Given the description of an element on the screen output the (x, y) to click on. 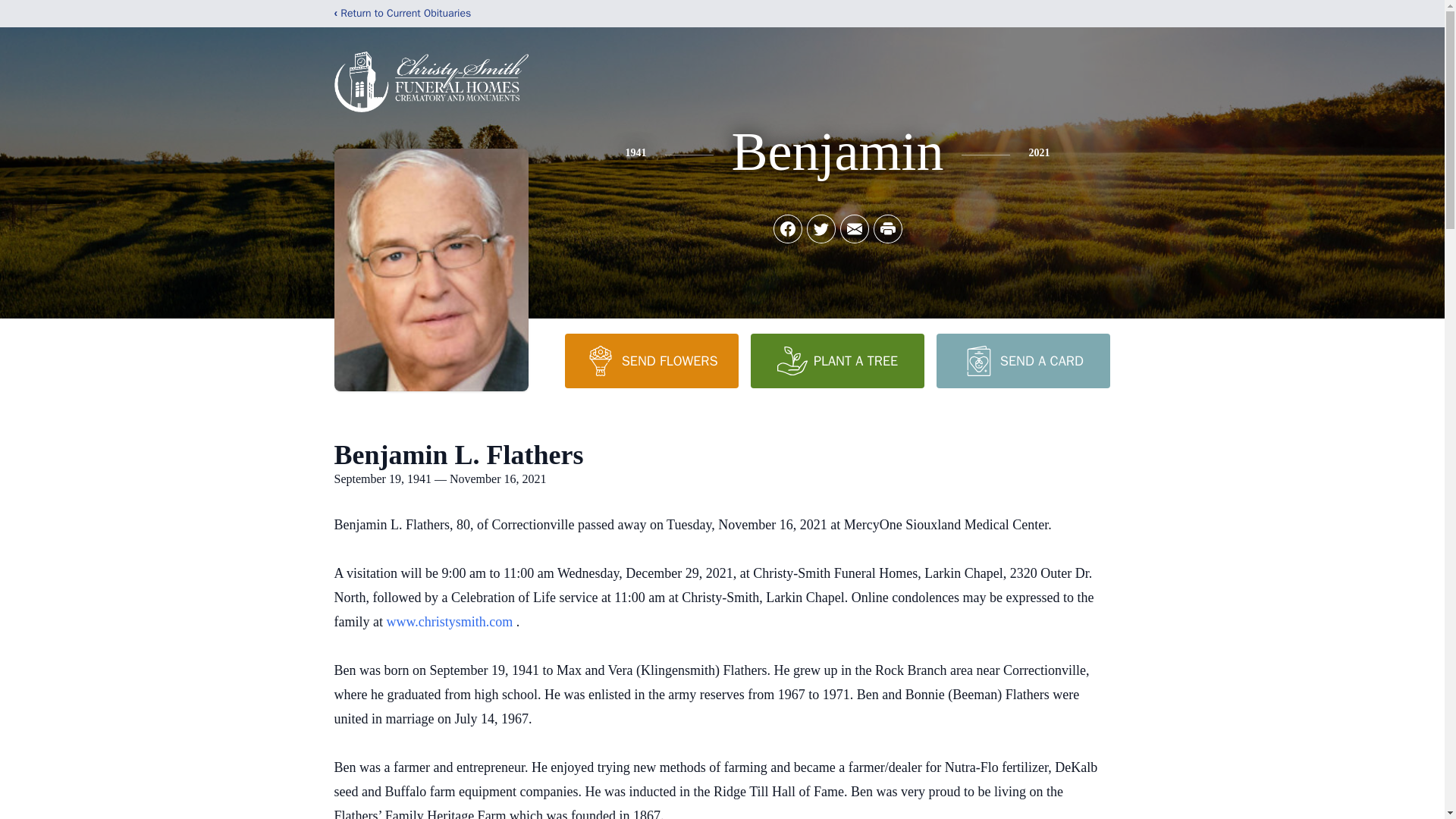
SEND FLOWERS (651, 360)
PLANT A TREE (837, 360)
Click to open in a new window or tab (450, 621)
www.christysmith.com (450, 621)
SEND A CARD (1022, 360)
